Given the description of an element on the screen output the (x, y) to click on. 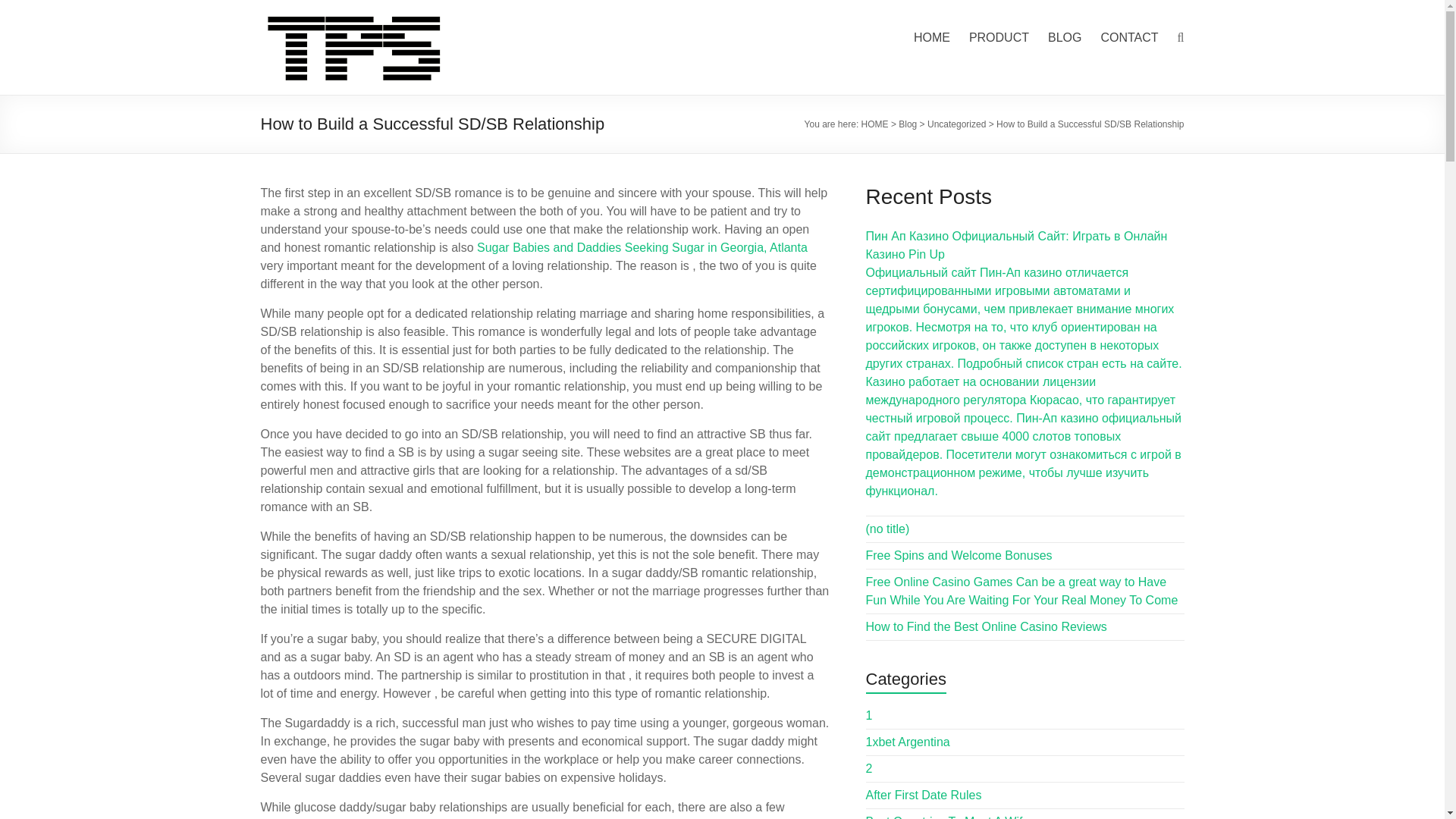
Free Spins and Welcome Bonuses (959, 554)
Best Countries To Meet A Wife (947, 816)
HOME (932, 37)
Go to HOME. (874, 123)
HOME (874, 123)
Sugar Babies and Daddies Seeking Sugar in Georgia, Atlanta (642, 246)
After First Date Rules (923, 794)
1xbet Argentina (908, 741)
Go to the Uncategorized Category archives. (956, 123)
Go to Blog. (907, 123)
BLOG (1064, 37)
HOME (299, 30)
How to Find the Best Online Casino Reviews (986, 626)
PRODUCT (999, 37)
